Given the description of an element on the screen output the (x, y) to click on. 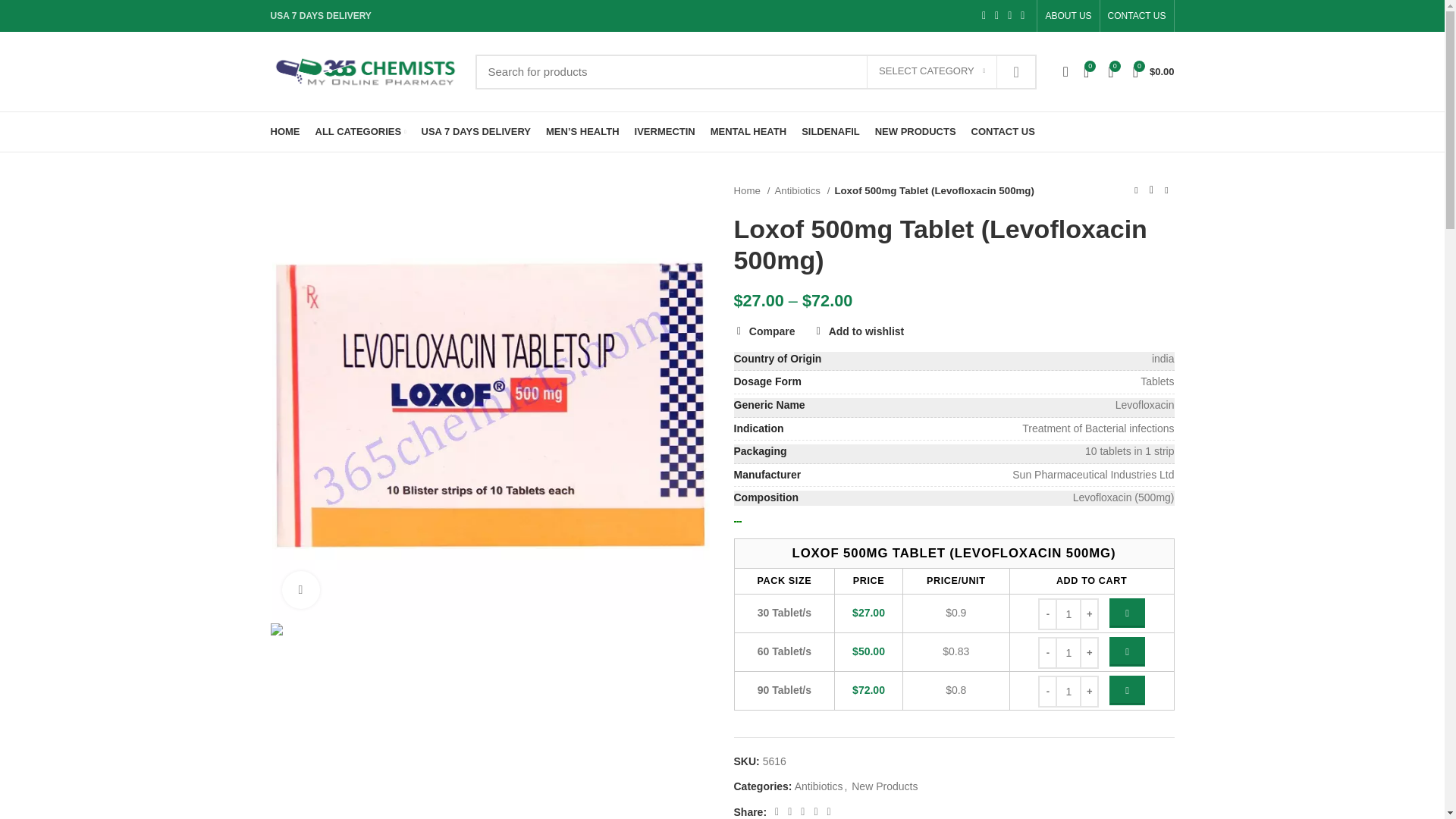
SELECT CATEGORY (931, 71)
CONTACT US (1136, 15)
ABOUT US (1067, 15)
Search for products (755, 71)
Shopping cart (1153, 71)
SELECT CATEGORY (931, 71)
